Given the description of an element on the screen output the (x, y) to click on. 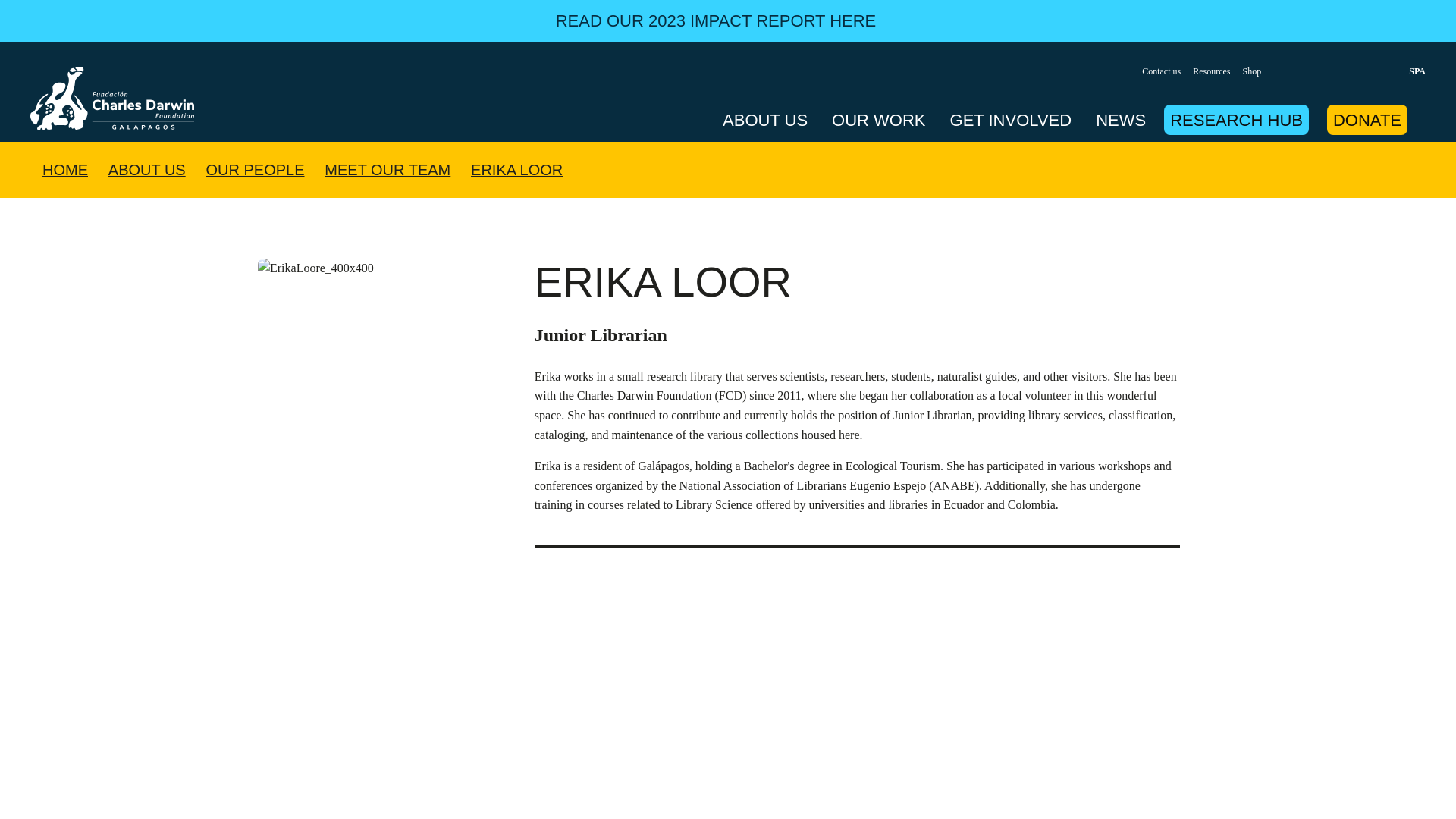
OUR WORK (877, 120)
Contact us (1160, 71)
Shop (1252, 71)
HERE (852, 20)
ABOUT US (765, 120)
About us (146, 169)
Erika Loor (516, 169)
Our people (254, 169)
SPA (1409, 71)
Meet our team (386, 169)
